Given the description of an element on the screen output the (x, y) to click on. 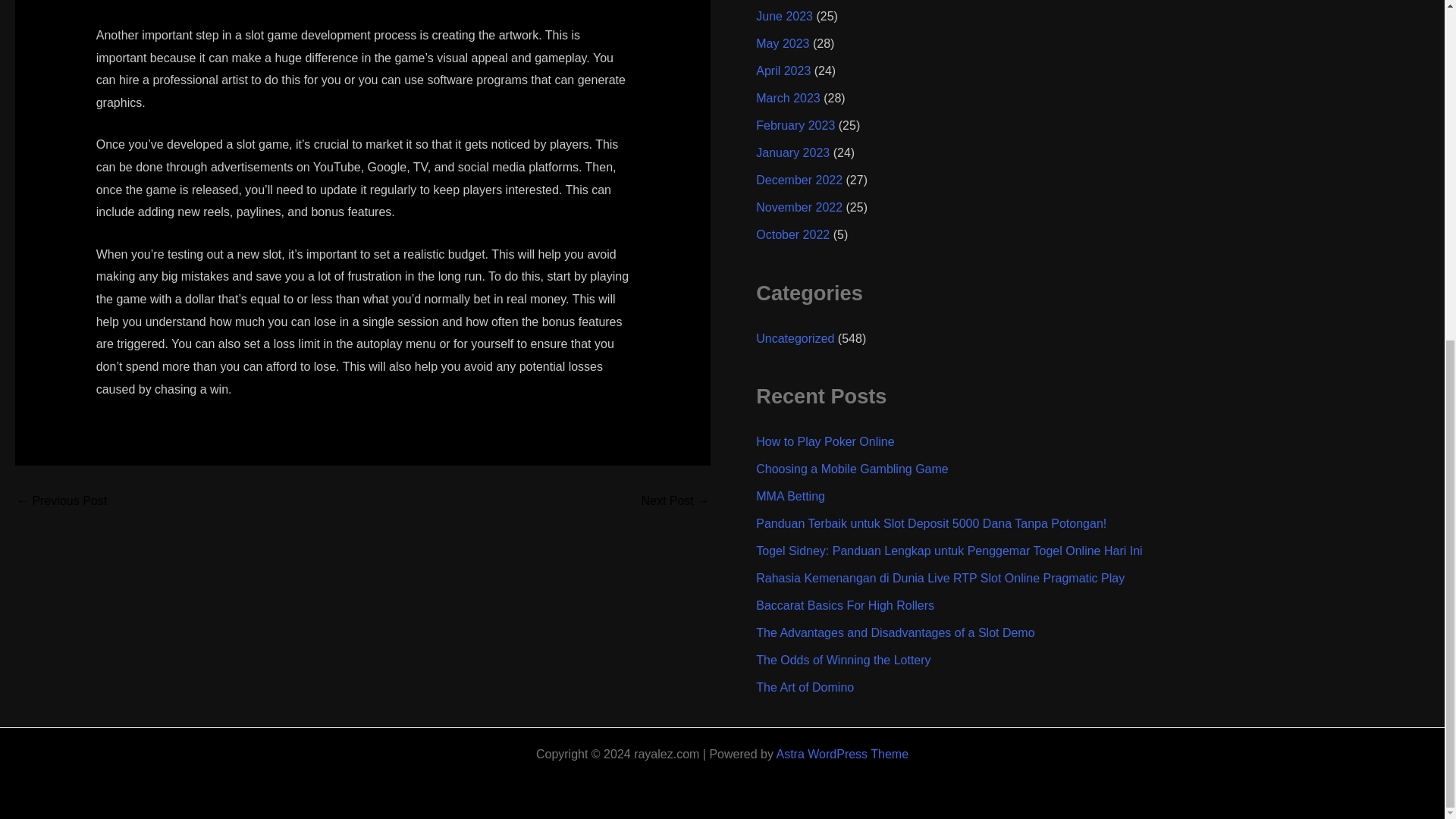
Panduan Terbaik untuk Slot Deposit 5000 Dana Tanpa Potongan! (930, 522)
MMA Betting (790, 495)
December 2022 (799, 179)
Choosing a Mobile Gambling Game (851, 468)
How to Play Poker Online (824, 440)
The Benefits and Risks of Playing a Lottery (61, 500)
May 2023 (782, 42)
November 2022 (799, 206)
April 2023 (782, 70)
March 2023 (788, 97)
Uncategorized (794, 338)
January 2023 (792, 152)
February 2023 (794, 124)
October 2022 (792, 234)
June 2023 (783, 15)
